Given the description of an element on the screen output the (x, y) to click on. 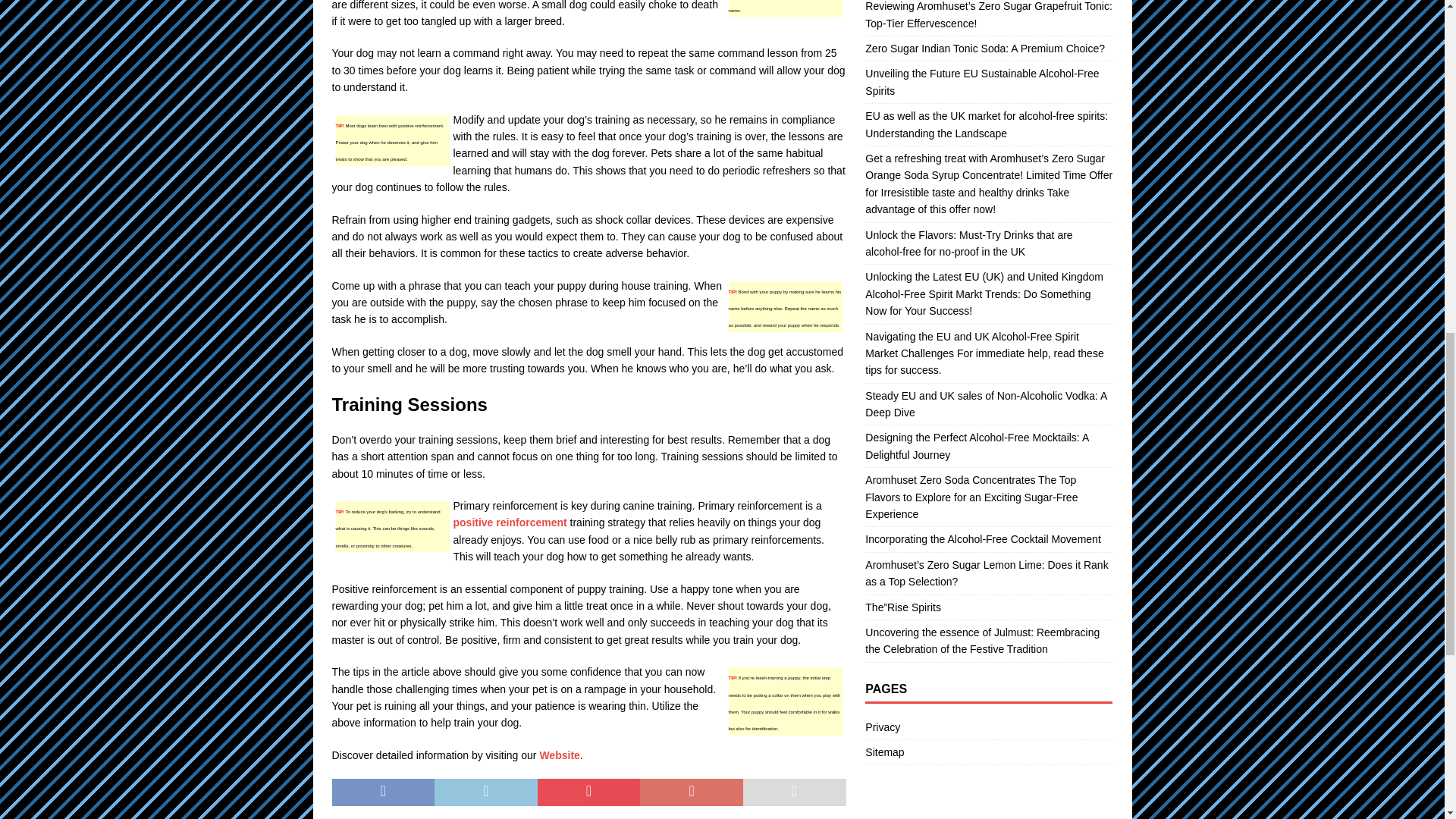
Website (558, 755)
positive reinforcement (509, 522)
